Given the description of an element on the screen output the (x, y) to click on. 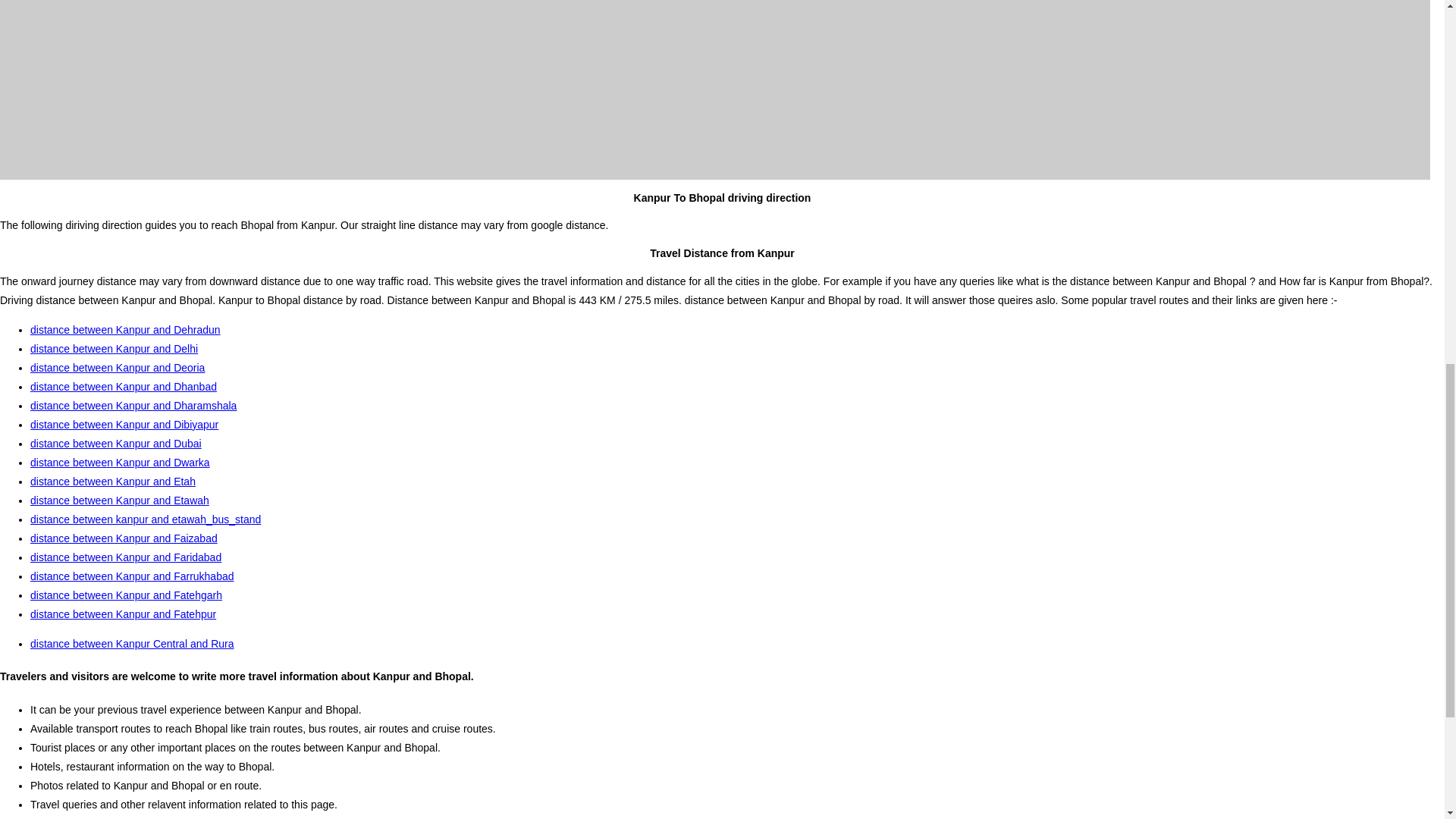
distance between Kanpur and Dubai (116, 443)
distance between Kanpur and Faridabad (125, 557)
distance between Kanpur and Dibiyapur (124, 424)
distance between Kanpur Central and Rura (132, 644)
distance between Kanpur and Delhi (114, 348)
distance between Kanpur and Dwarka (119, 462)
distance between Kanpur and Dehradun (125, 329)
distance between Kanpur and Fatehpur (122, 613)
distance between Kanpur and Etawah (119, 500)
distance between Kanpur and Deoria (117, 367)
distance between Kanpur and Farrukhabad (132, 576)
distance between Kanpur and Dhanbad (123, 386)
distance between Kanpur and Dharamshala (132, 405)
distance between Kanpur and Faizabad (123, 538)
distance between Kanpur and Etah (112, 481)
